Given the description of an element on the screen output the (x, y) to click on. 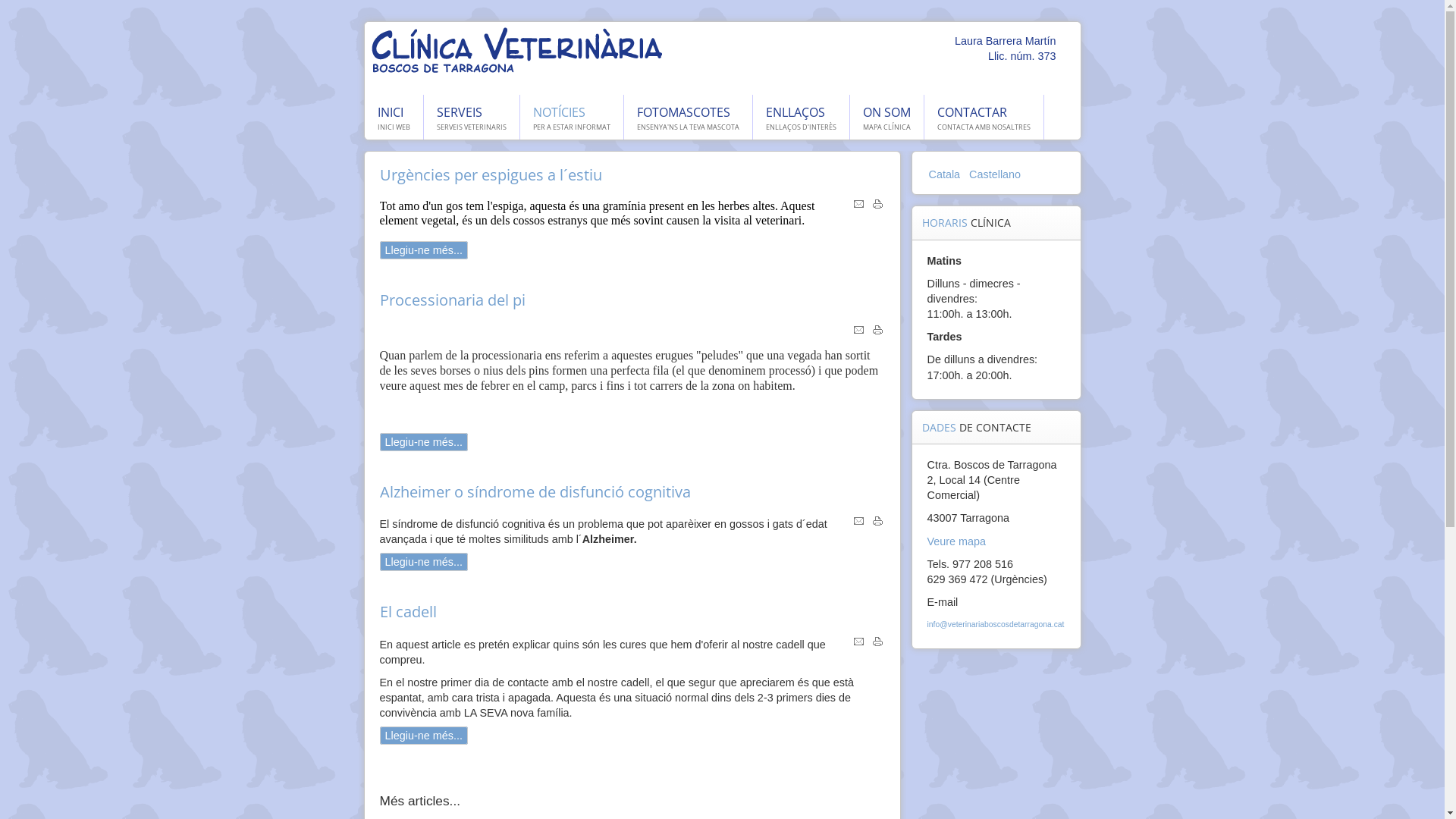
FOTOMASCOTES Element type: text (683, 111)
ENSENYA'NS LA TEVA MASCOTA Element type: text (688, 126)
Veure mapa Element type: text (955, 541)
PER A ESTAR INFORMAT Element type: text (570, 126)
Imprimeix Element type: hover (877, 523)
Catala Element type: text (945, 174)
Processionaria del pi Element type: text (451, 299)
El cadell Element type: text (407, 610)
SERVEIS Element type: text (459, 111)
Imprimeix Element type: hover (877, 643)
SERVEIS VETERINARIS Element type: text (471, 126)
Imprimeix Element type: hover (877, 206)
info@veterinariaboscosdetarragona.cat Element type: text (994, 624)
CONTACTA AMB NOSALTRES Element type: text (983, 126)
INICI WEB Element type: text (393, 126)
Imprimeix Element type: hover (877, 332)
CONTACTAR Element type: text (972, 111)
Castellano Element type: text (994, 174)
ON SOM Element type: text (886, 111)
INICI Element type: text (390, 111)
